Given the description of an element on the screen output the (x, y) to click on. 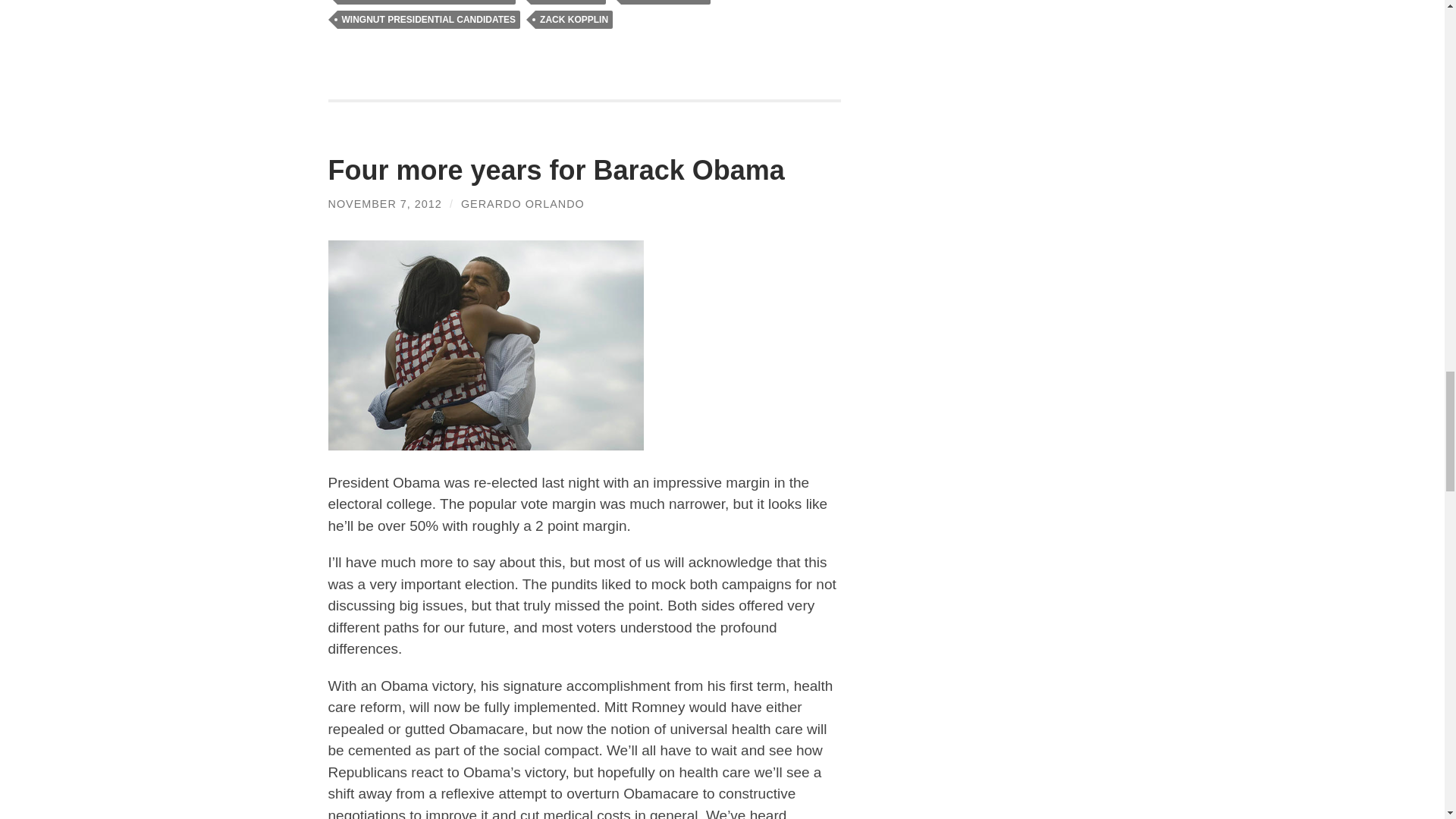
Posts by Gerardo Orlando (523, 203)
Obama and Michelle (485, 345)
